Given the description of an element on the screen output the (x, y) to click on. 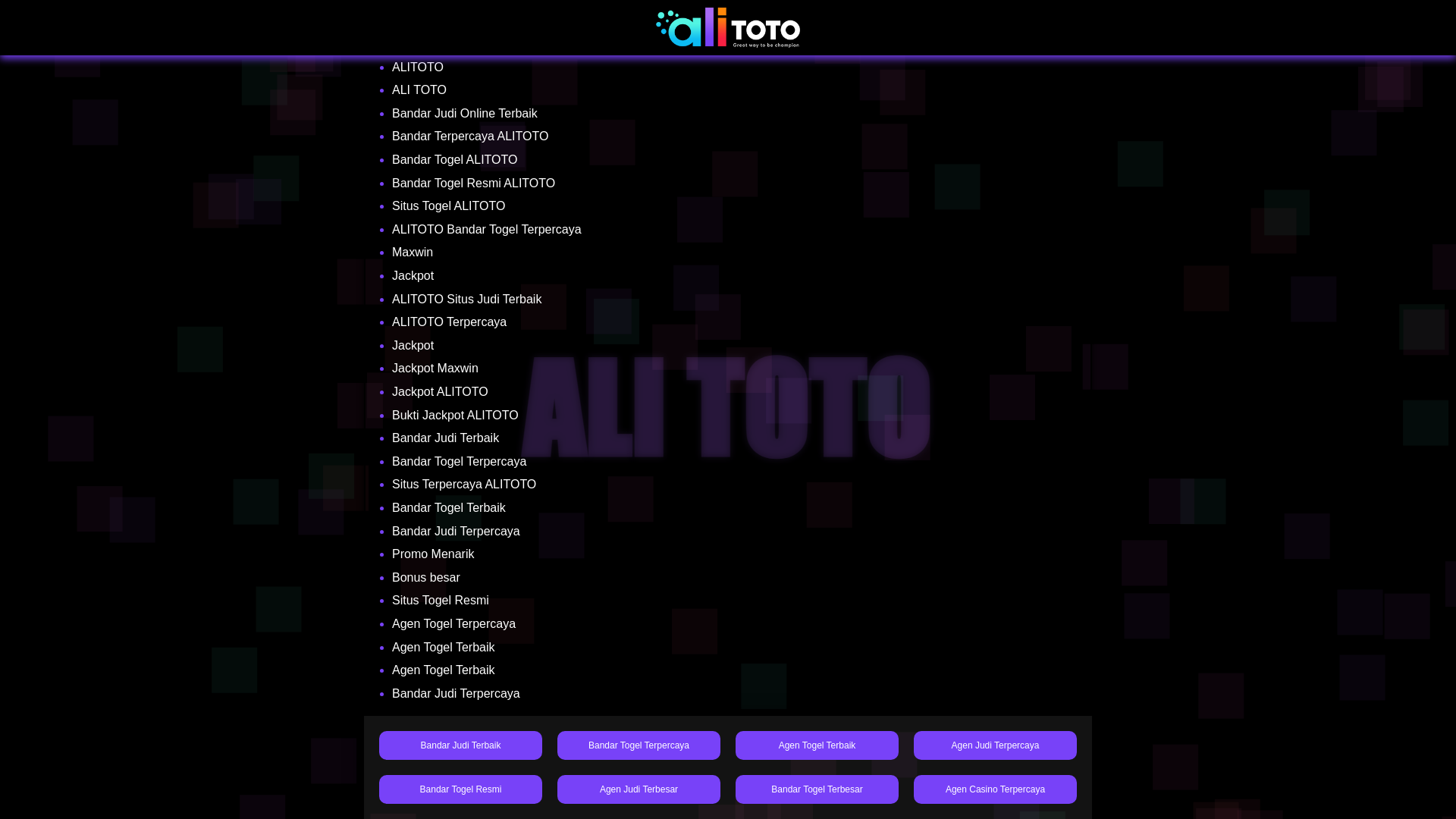
Agen Casino Terpercaya (995, 788)
Agen Togel Terbaik (816, 745)
Agen Judi Terbesar (638, 788)
Bandar Judi Terbaik (459, 745)
Bandar Togel Terbesar (816, 788)
Agen Judi Terpercaya (995, 745)
Bandar Togel Terpercaya (638, 745)
Bandar Togel Resmi (459, 788)
